Given the description of an element on the screen output the (x, y) to click on. 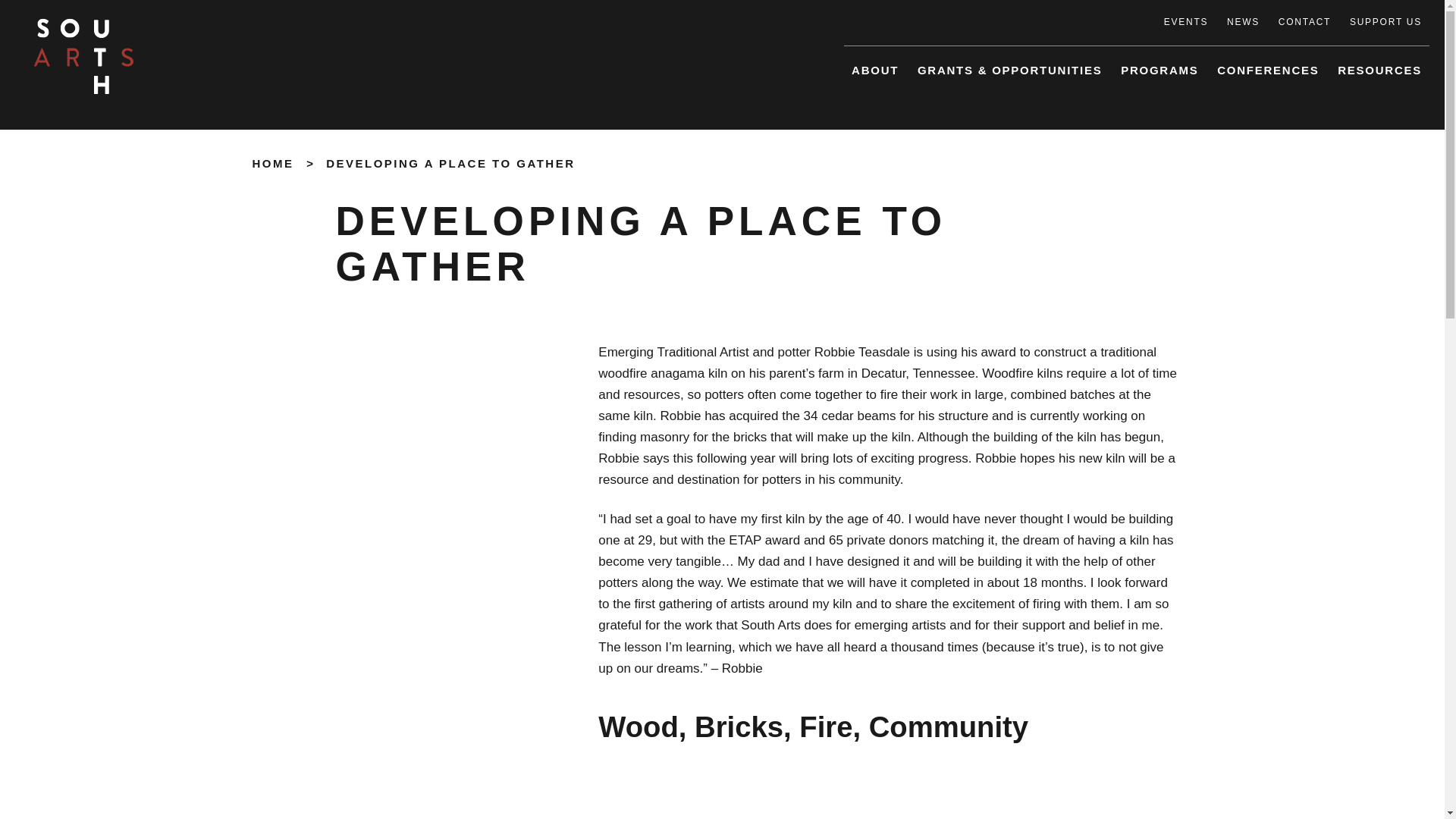
ABOUT (874, 70)
CONFERENCES (1267, 70)
South Arts (83, 56)
PROGRAMS (1159, 70)
